Given the description of an element on the screen output the (x, y) to click on. 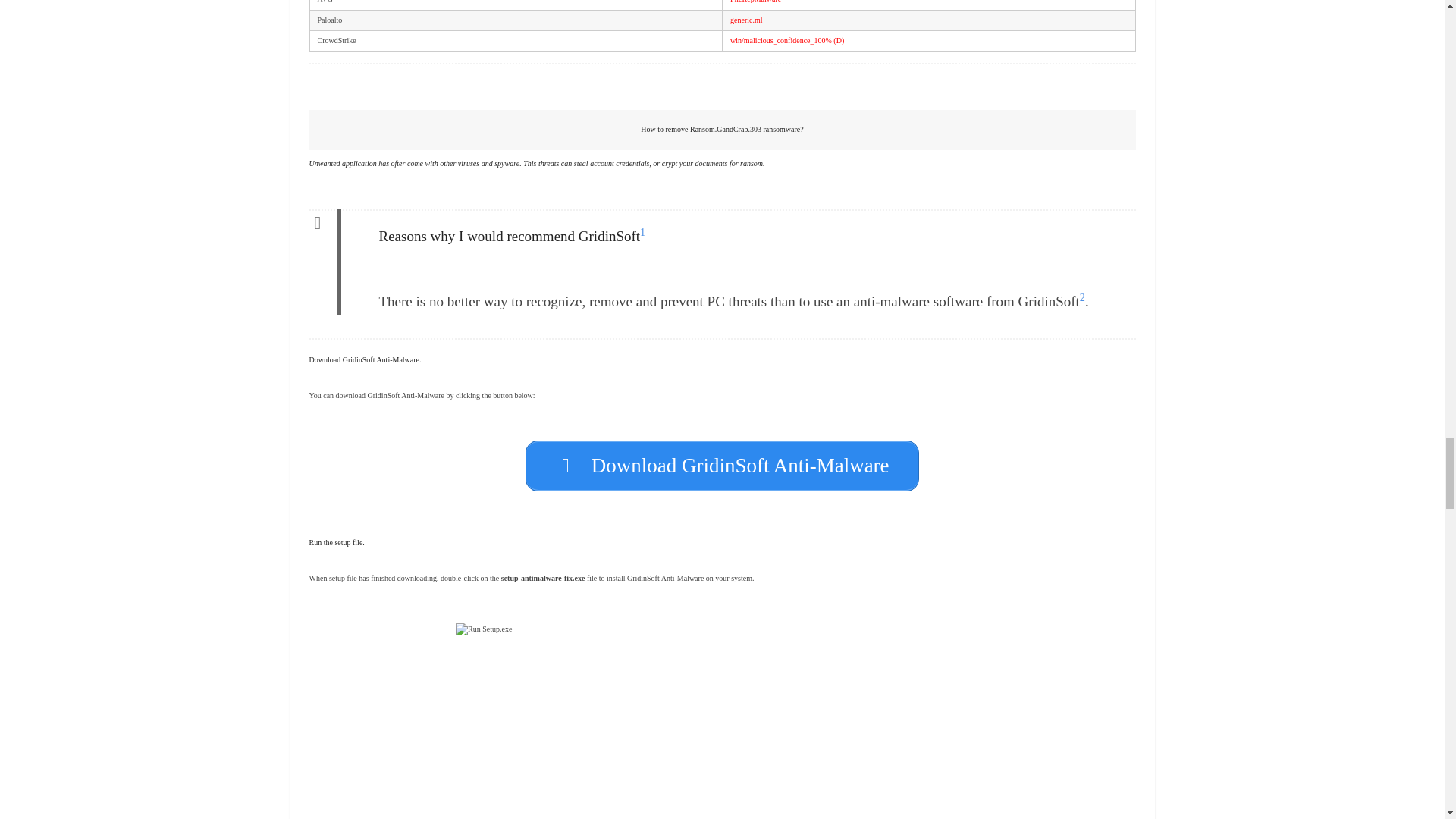
Download GridinSoft Anti-Malware (721, 465)
